Given the description of an element on the screen output the (x, y) to click on. 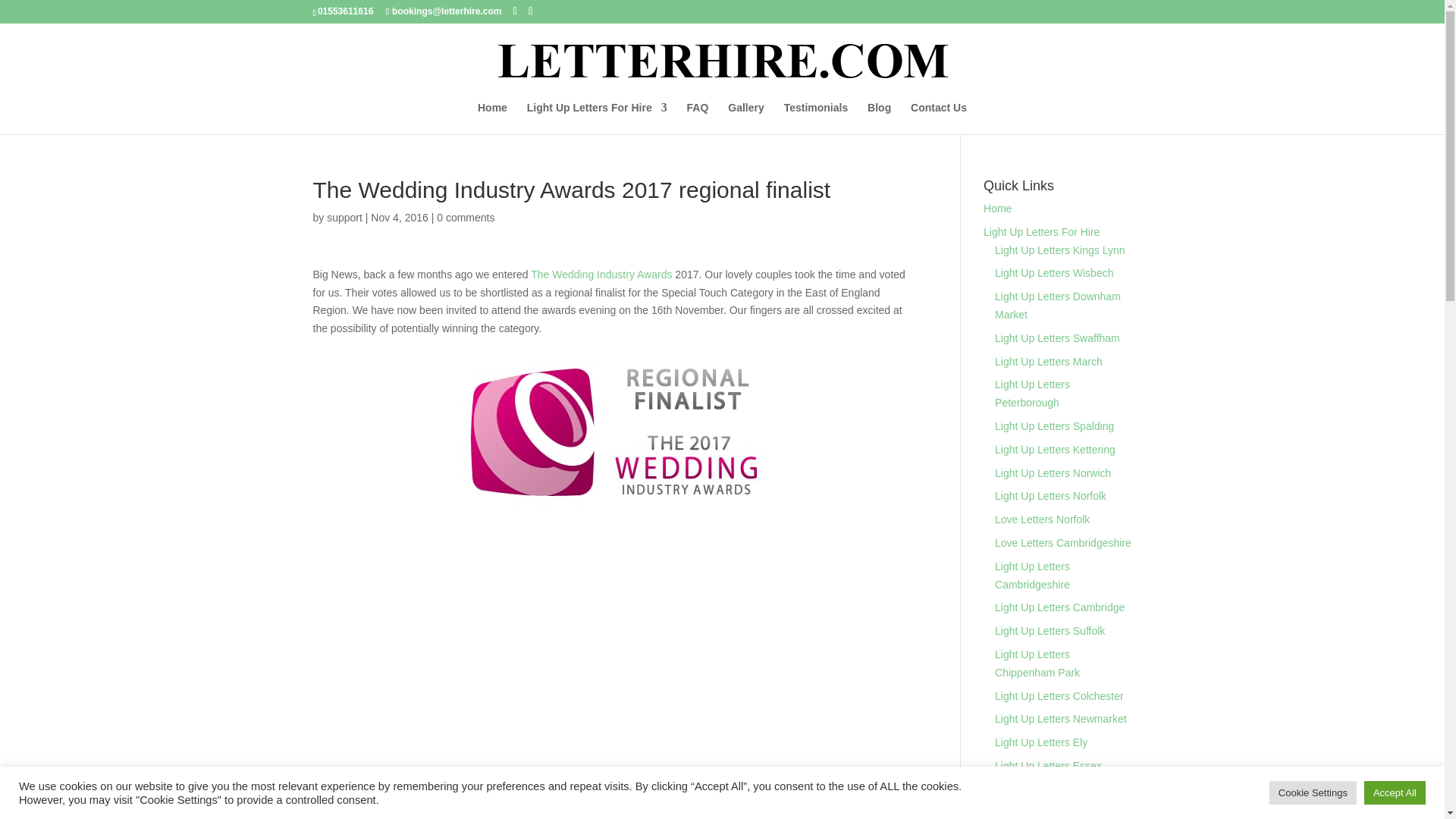
Gallery (745, 118)
Light Up Letters Swaffham (1056, 337)
Light Up Letters Kettering (1054, 449)
Light Up Letters Spalding (1053, 426)
Testimonials (816, 118)
Light Up Letters Norfolk (1050, 495)
Light Up Letters Norwich (1052, 472)
Light Up Letters For Hire (596, 118)
Home (491, 118)
Light Up Letters March (1048, 361)
